Given the description of an element on the screen output the (x, y) to click on. 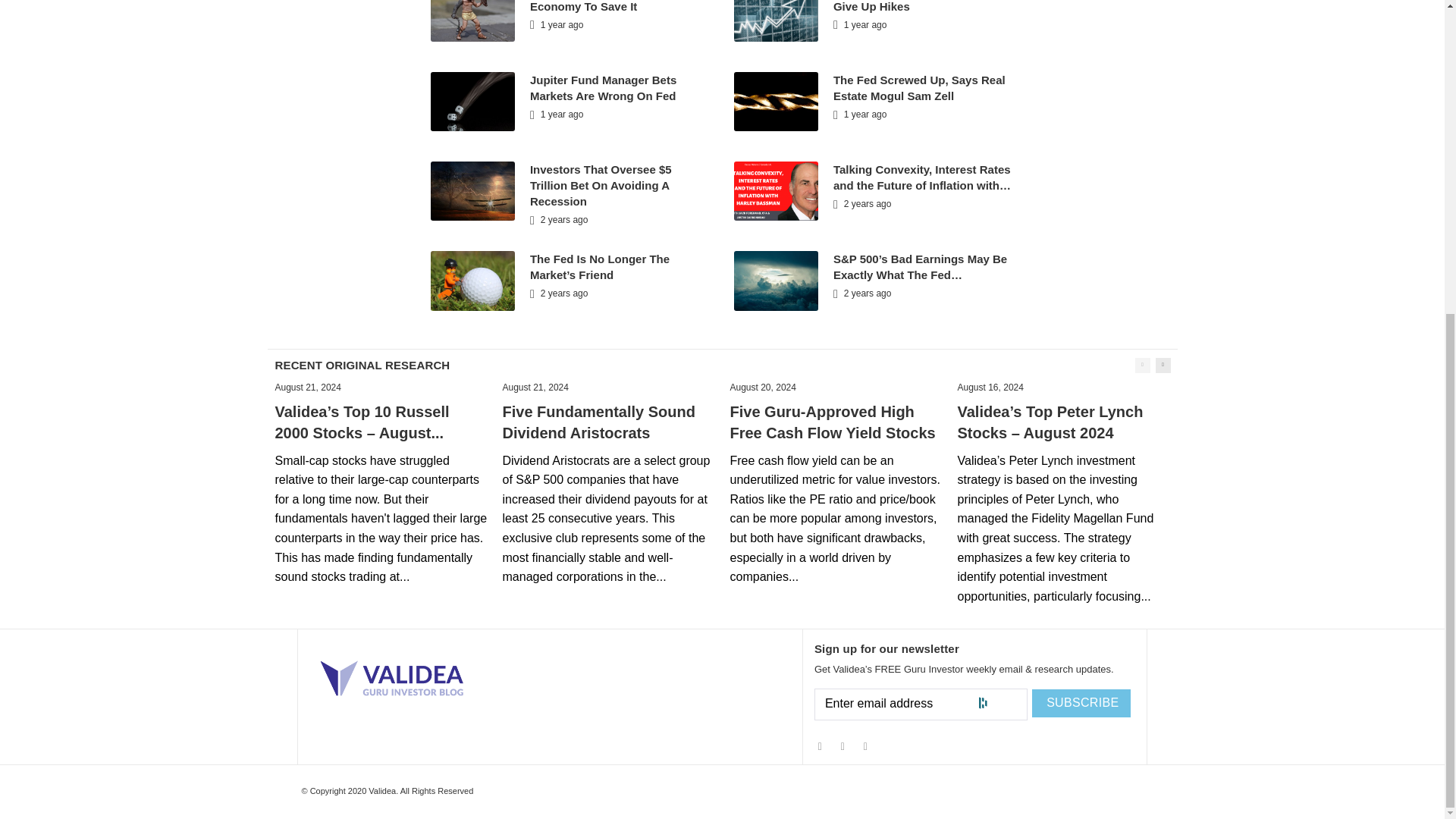
2024-08-16T11:21:54-04:00 (989, 387)
2024-08-21T07:05:42-04:00 (307, 387)
1 year ago (859, 113)
The Fed Screwed Up, Says Real Estate Mogul Sam Zell (919, 87)
Jupiter Fund Manager Bets Markets Are Wrong On Fed (603, 87)
If Labor Market Falters, Feds Will Give Up Hikes (921, 6)
Arnott: Fed Will Destroy Economy To Save It (595, 6)
Jupiter Fund Manager Bets Markets Are Wrong On Fed (603, 87)
Arnott: Fed Will Destroy Economy To Save It (595, 6)
If Labor Market Falters, Feds Will Give Up Hikes (921, 6)
